Given the description of an element on the screen output the (x, y) to click on. 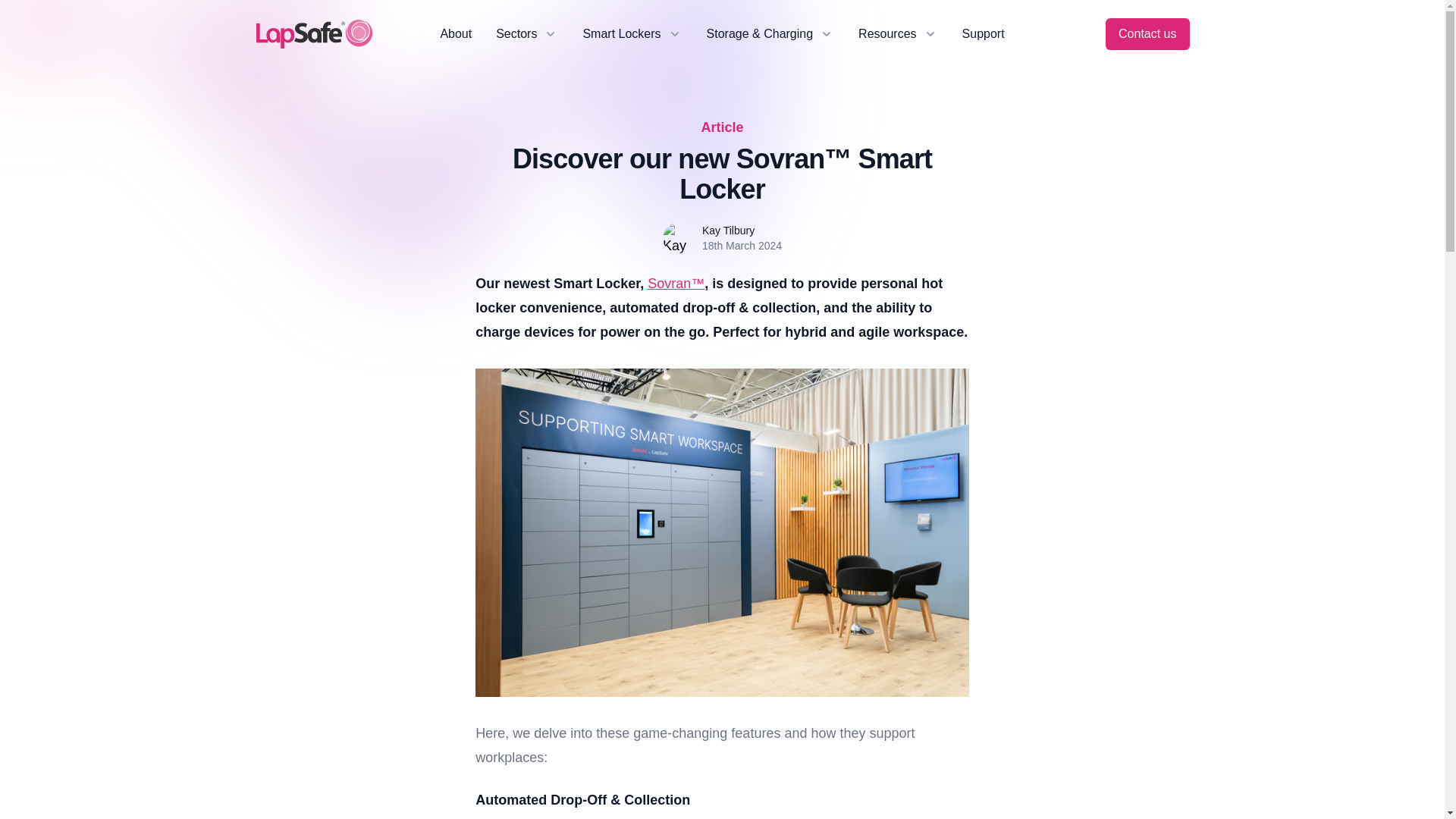
About (455, 34)
Resources (898, 34)
LapSafe (313, 33)
Smart Lockers (631, 34)
Sectors (526, 34)
